Given the description of an element on the screen output the (x, y) to click on. 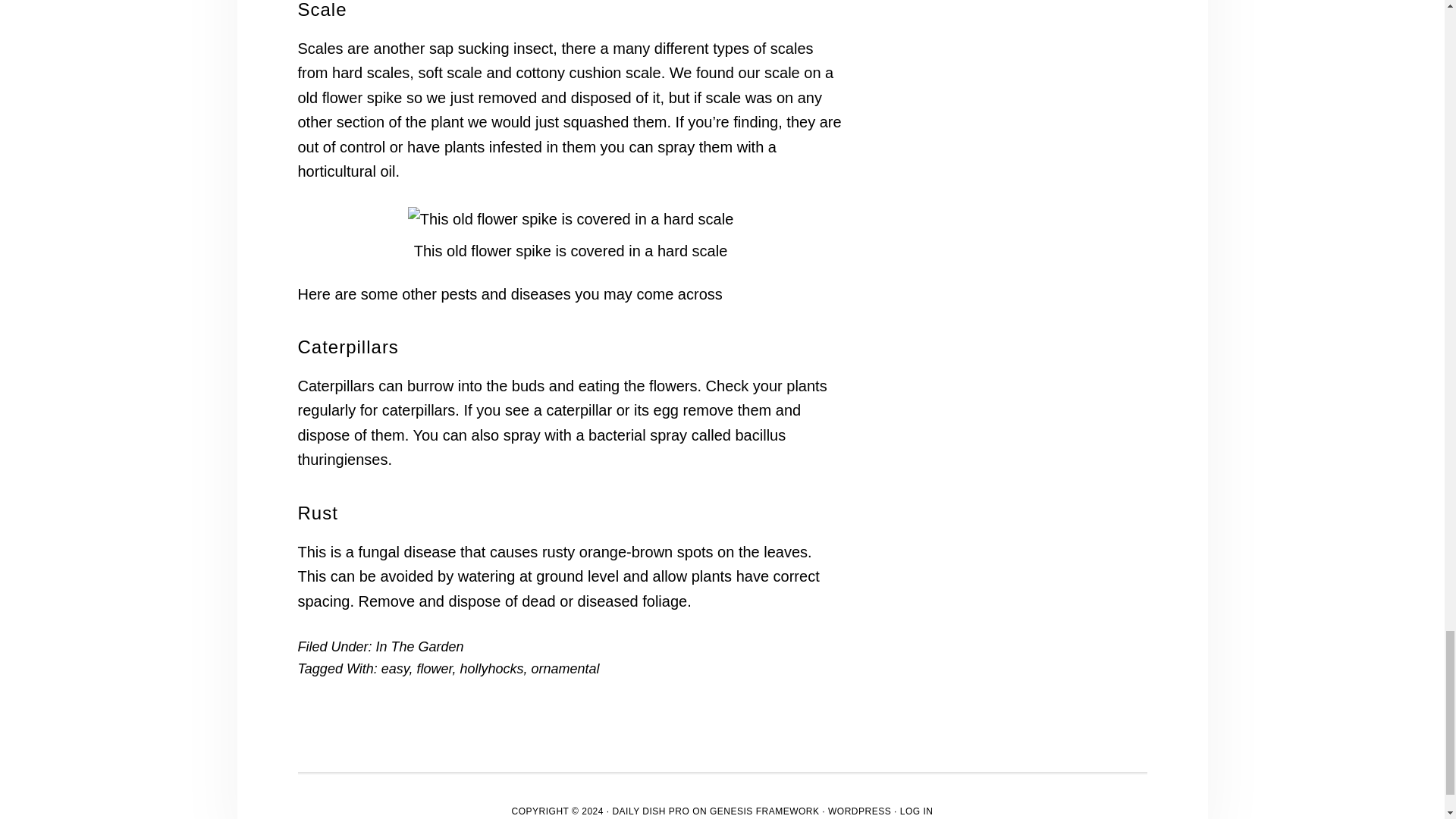
In The Garden (419, 646)
ornamental (565, 668)
flower (433, 668)
hollyhocks (491, 668)
easy (395, 668)
